Given the description of an element on the screen output the (x, y) to click on. 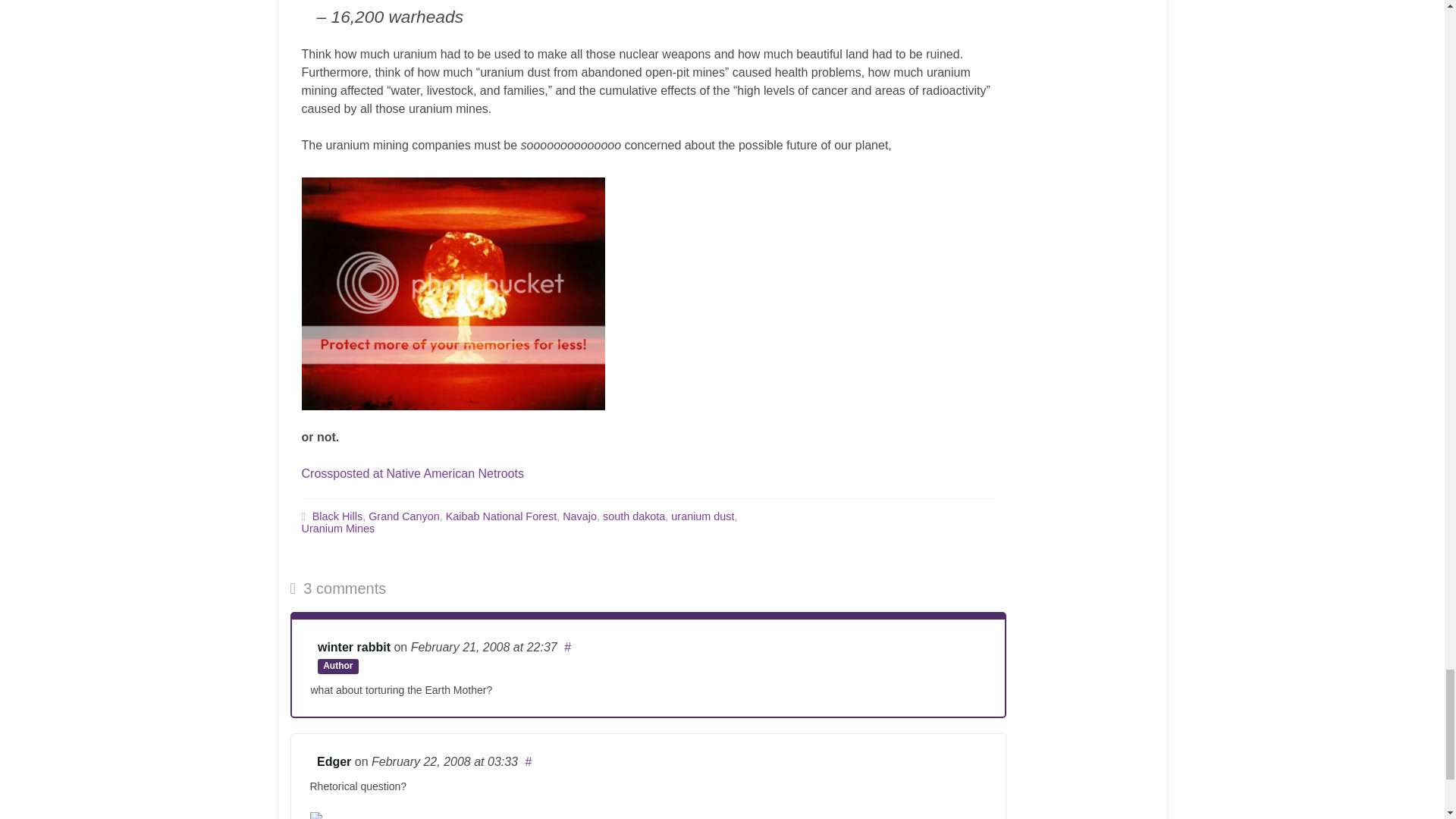
Black Hills (337, 515)
Grand Canyon (403, 515)
Navajo (579, 515)
Uranium Mines (338, 527)
south dakota (633, 515)
Kaibab National Forest (500, 515)
uranium dust (702, 515)
winter rabbit (353, 645)
Edger (333, 761)
Crossposted at Native American Netroots (412, 472)
